Given the description of an element on the screen output the (x, y) to click on. 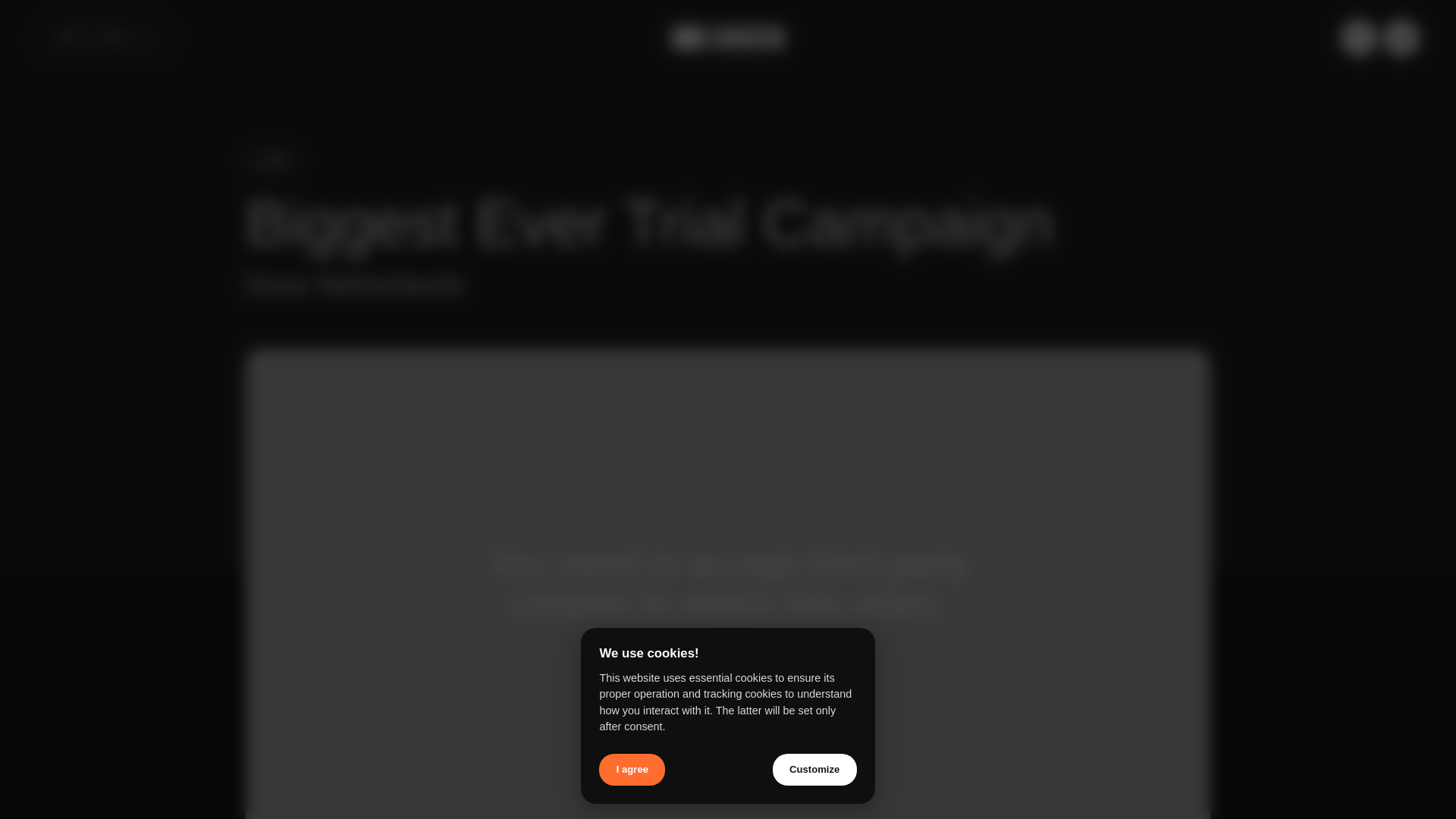
CHANGE PREFERENCES (727, 678)
CASE (272, 160)
LET'S TALK (104, 37)
